Given the description of an element on the screen output the (x, y) to click on. 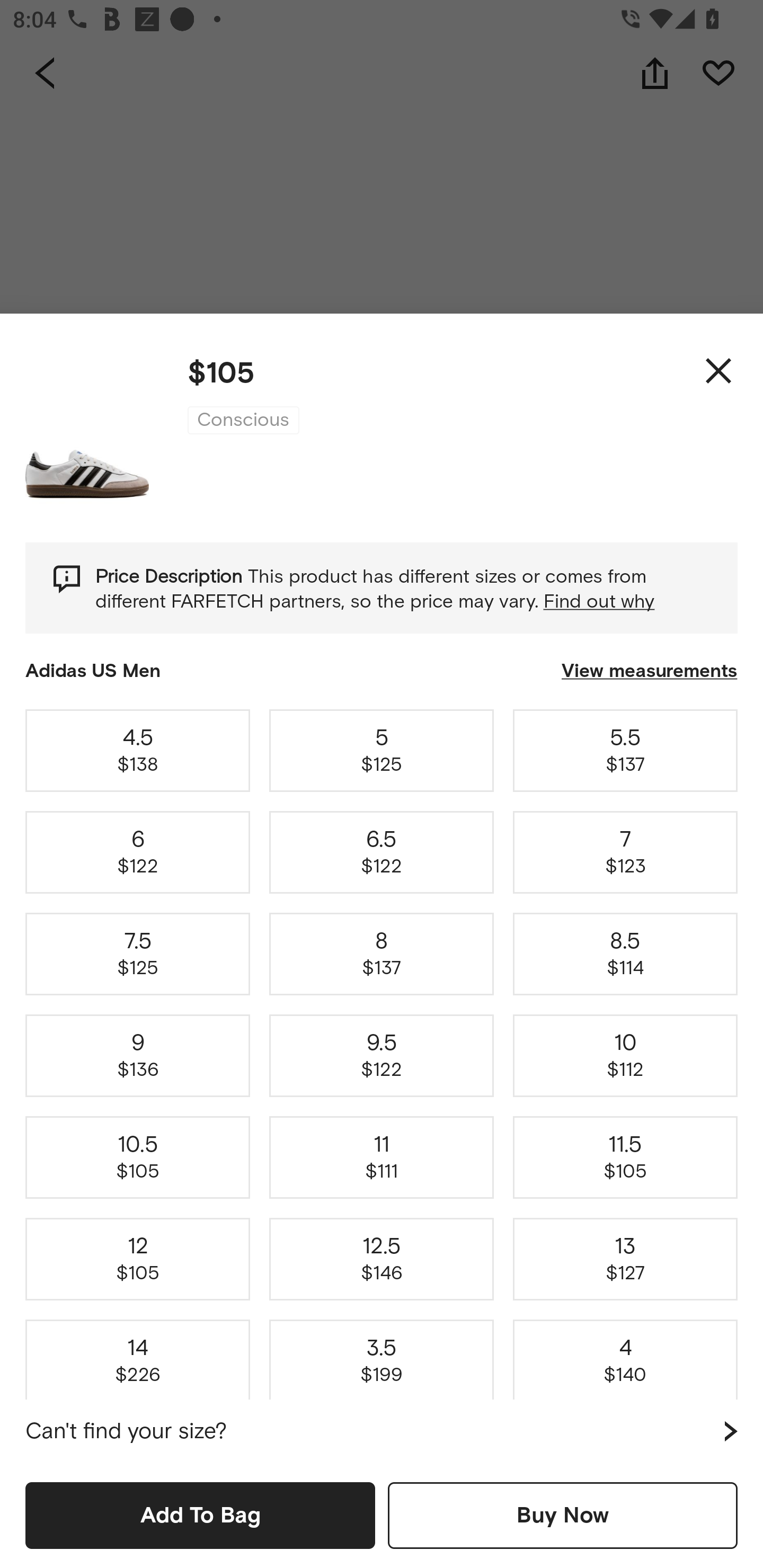
4.5 $138 (137, 749)
5 $125 (381, 749)
5.5 $137 (624, 749)
6 $122 (137, 851)
6.5 $122 (381, 851)
7 $123 (624, 851)
7.5 $125 (137, 953)
8 $137 (381, 953)
8.5 $114 (624, 953)
9 $136 (137, 1055)
9.5 $122 (381, 1055)
10 $112 (624, 1055)
10.5 $105 (137, 1157)
11 $111 (381, 1157)
11.5 $105 (624, 1157)
12 $105 (137, 1258)
12.5 $146 (381, 1258)
13 $127 (624, 1258)
14 $226 (137, 1356)
3.5 $199 (381, 1356)
4 $140 (624, 1356)
Can't find your size? (381, 1431)
Add To Bag (200, 1515)
Buy Now (562, 1515)
